Given the description of an element on the screen output the (x, y) to click on. 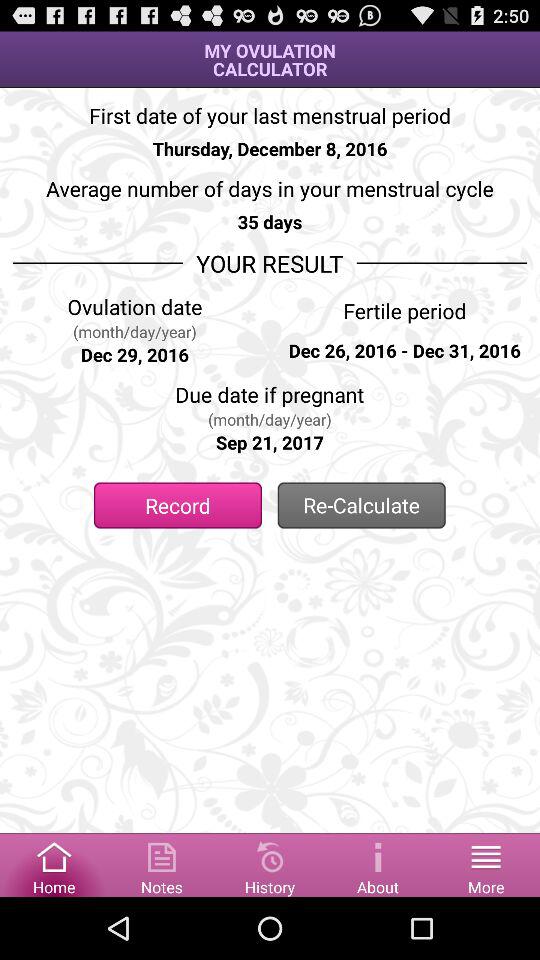
to view history (270, 864)
